Given the description of an element on the screen output the (x, y) to click on. 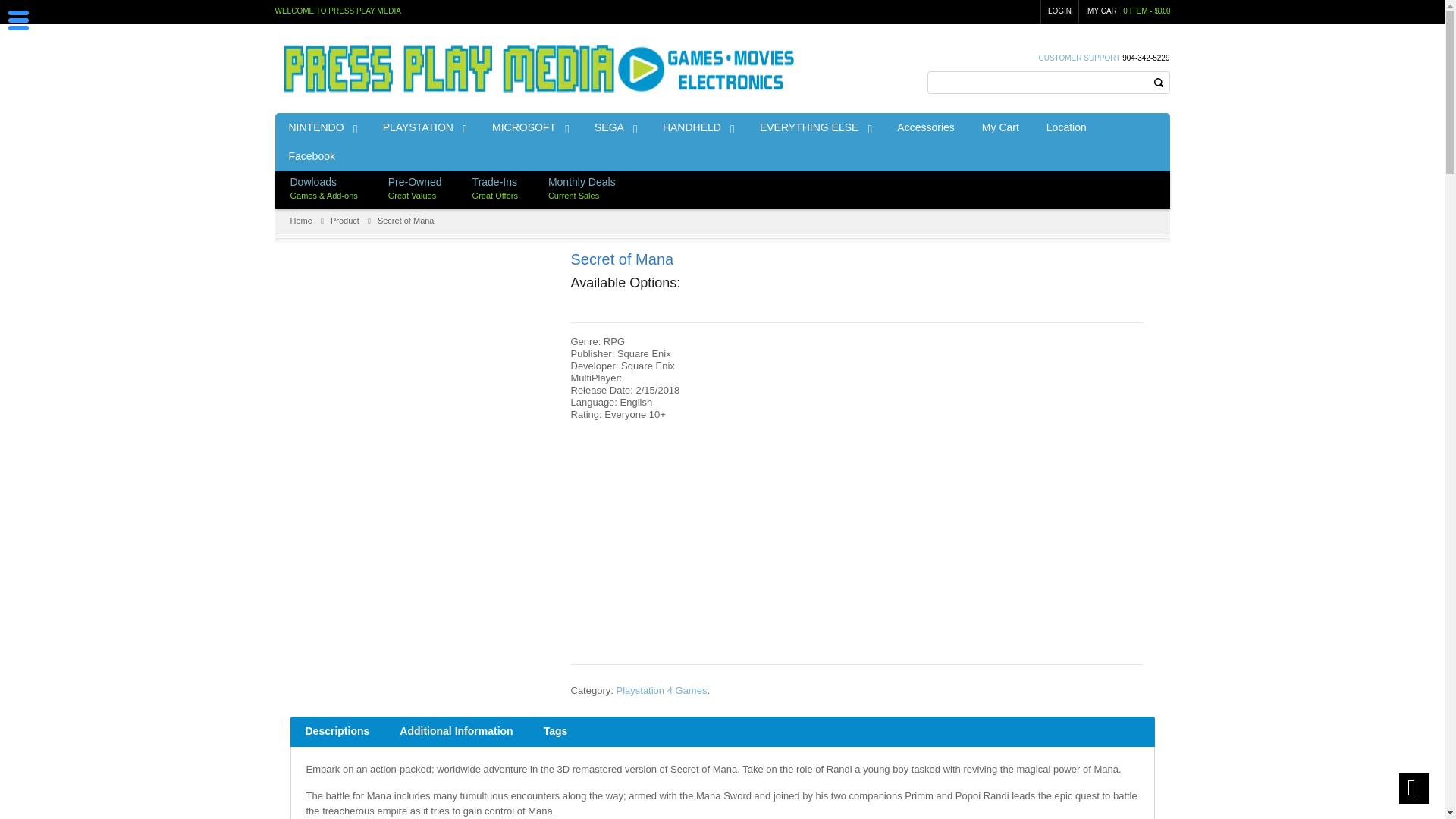
Pre-Owned (415, 182)
Press Play Media (540, 64)
Twitter (1162, 178)
View your shopping bag (1104, 9)
Facebook (1145, 178)
Monthly Deals (581, 182)
Downloads (312, 182)
Search (1158, 82)
Trade-Ins (493, 182)
My Account (1059, 11)
